Given the description of an element on the screen output the (x, y) to click on. 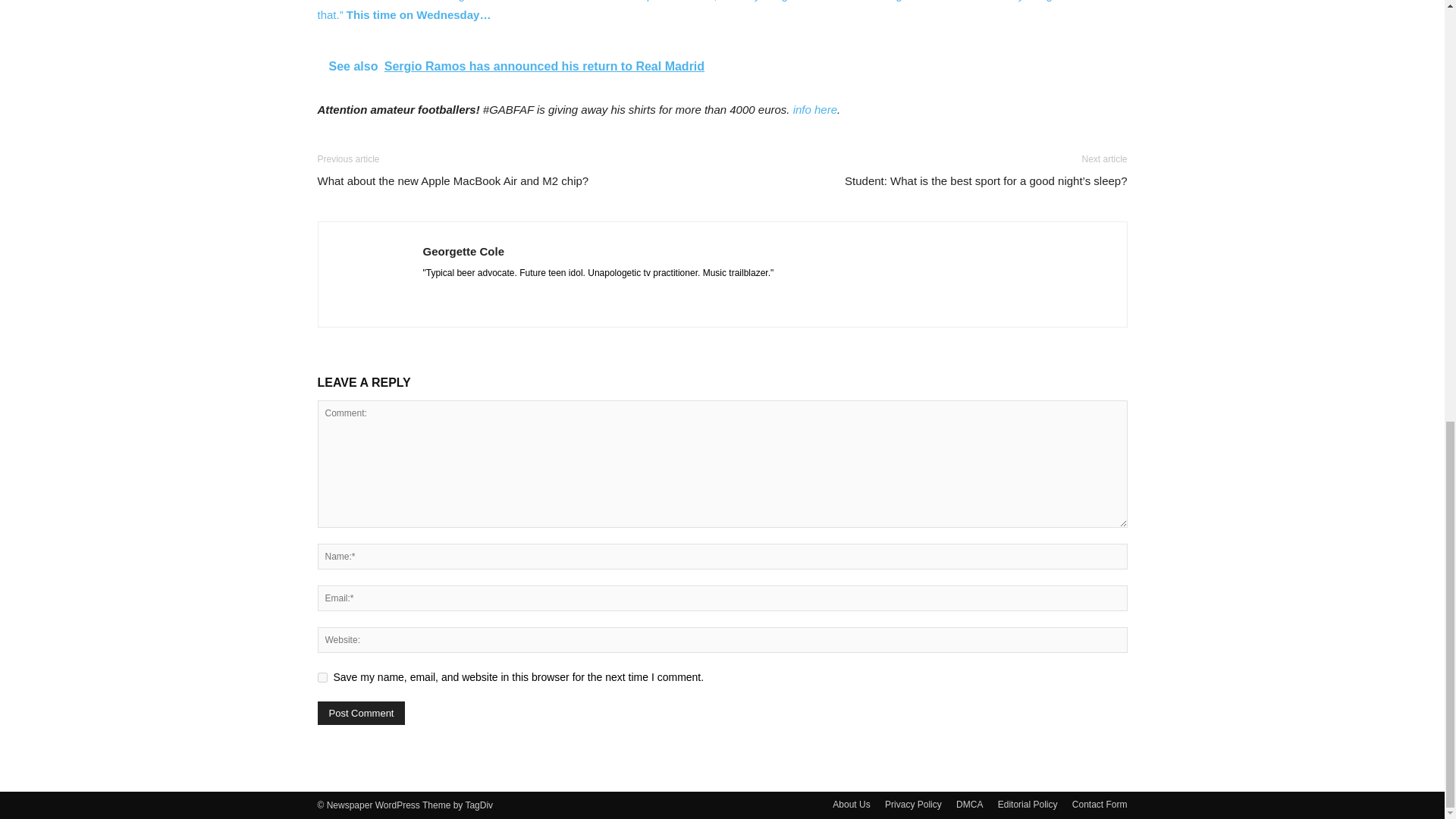
What about the new Apple MacBook Air and M2 chip? (452, 180)
info here (815, 109)
Georgette Cole (464, 250)
Post Comment (360, 712)
Post Comment (360, 712)
About Us (850, 804)
yes (321, 677)
